Given the description of an element on the screen output the (x, y) to click on. 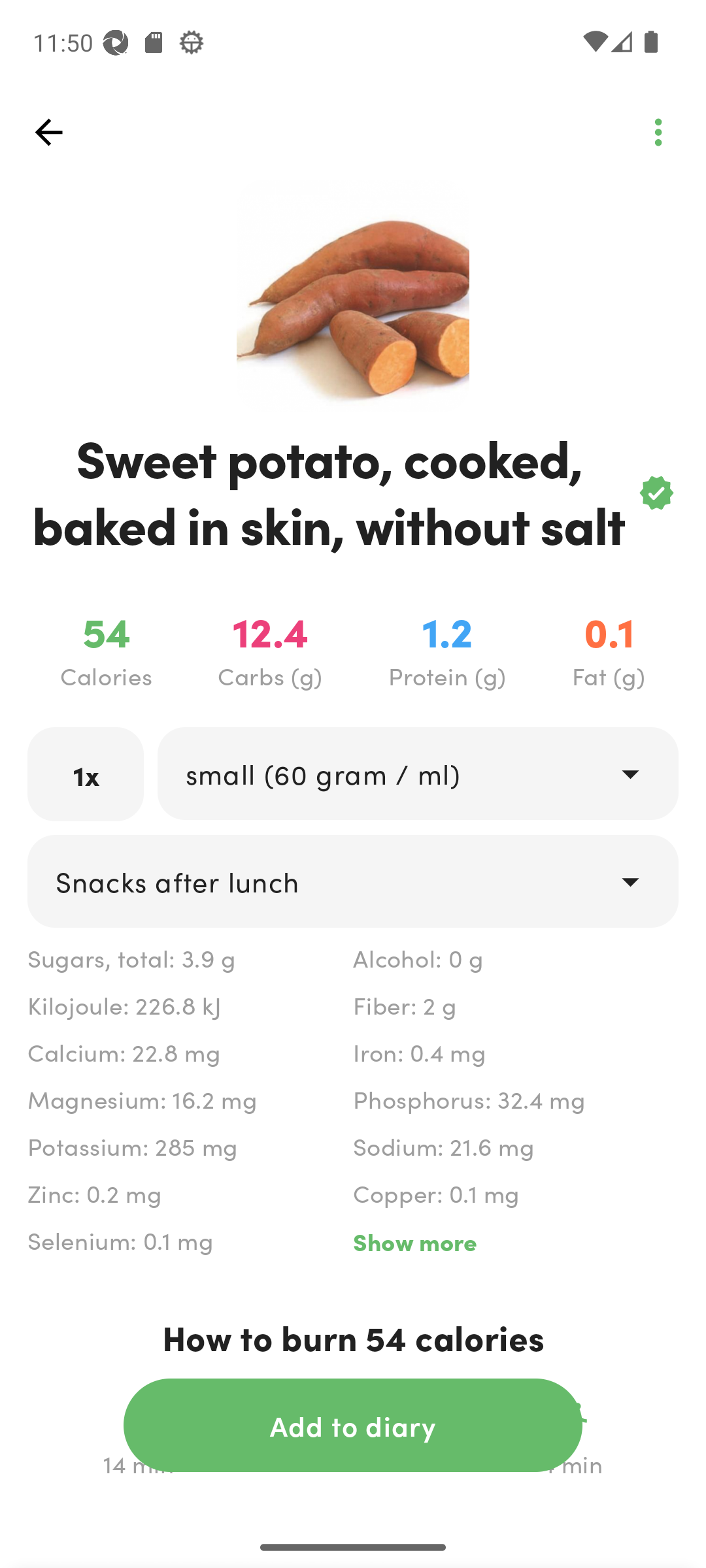
top_left_action (48, 132)
top_left_action (658, 132)
1x labeled_edit_text (85, 774)
drop_down small (60 gram / ml) (417, 773)
drop_down Snacks after lunch (352, 881)
Show more (515, 1240)
action_button Add to diary (352, 1425)
